Given the description of an element on the screen output the (x, y) to click on. 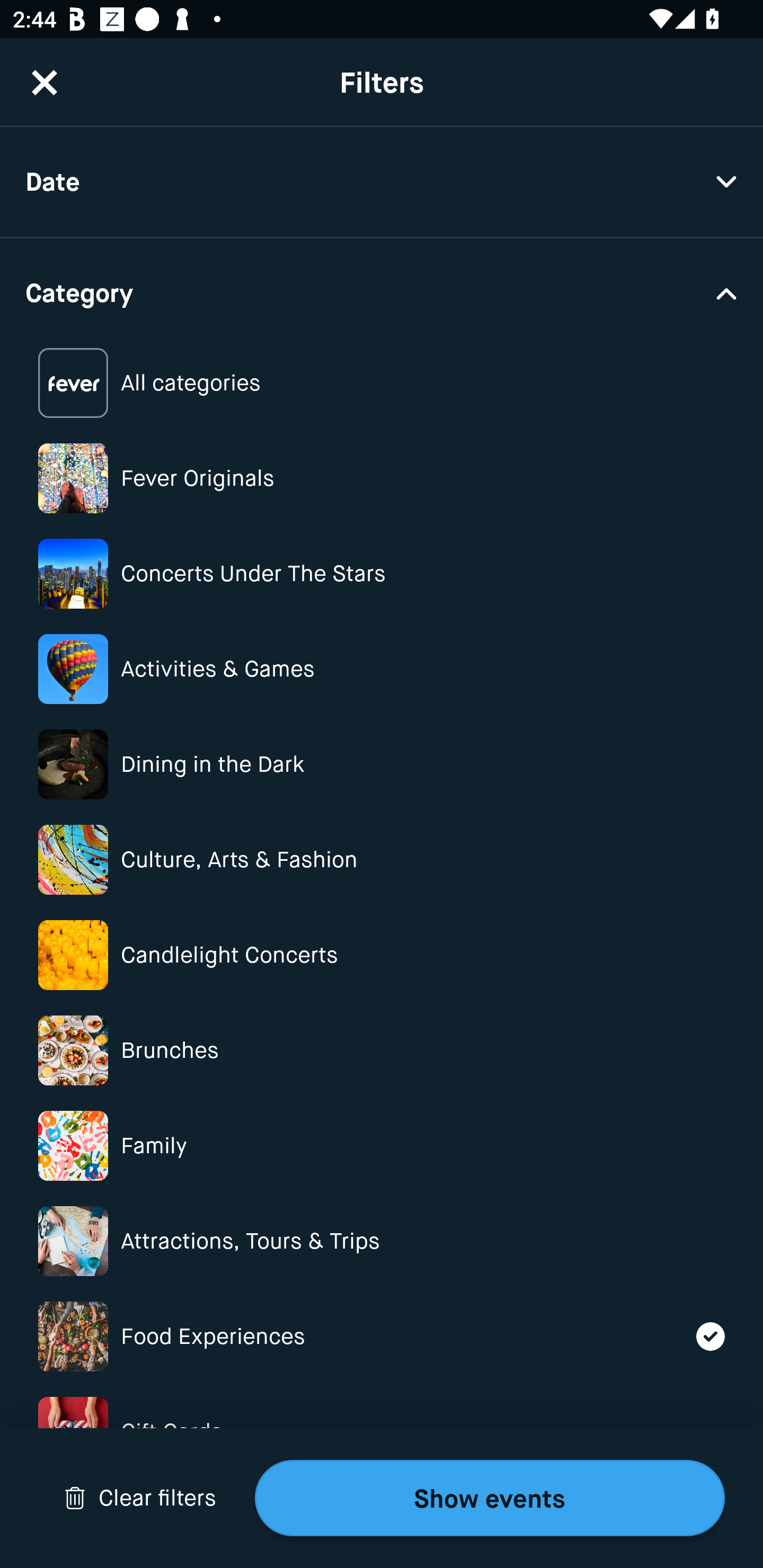
CloseButton (44, 82)
Date Drop Down Arrow (381, 182)
Category Drop Down Arrow (381, 291)
Category Image All categories (381, 382)
Category Image Fever Originals (381, 477)
Category Image Concerts Under The Stars (381, 573)
Category Image Activities & Games (381, 668)
Category Image Dining in the Dark (381, 763)
Category Image Culture, Arts & Fashion (381, 859)
Category Image Candlelight Concerts (381, 954)
Category Image Brunches (381, 1050)
Category Image Family (381, 1145)
Category Image Attractions, Tours & Trips (381, 1240)
Category Image Food Experiences Selected Icon (381, 1336)
Drop Down Arrow Clear filters (139, 1497)
Show events (489, 1497)
